Given the description of an element on the screen output the (x, y) to click on. 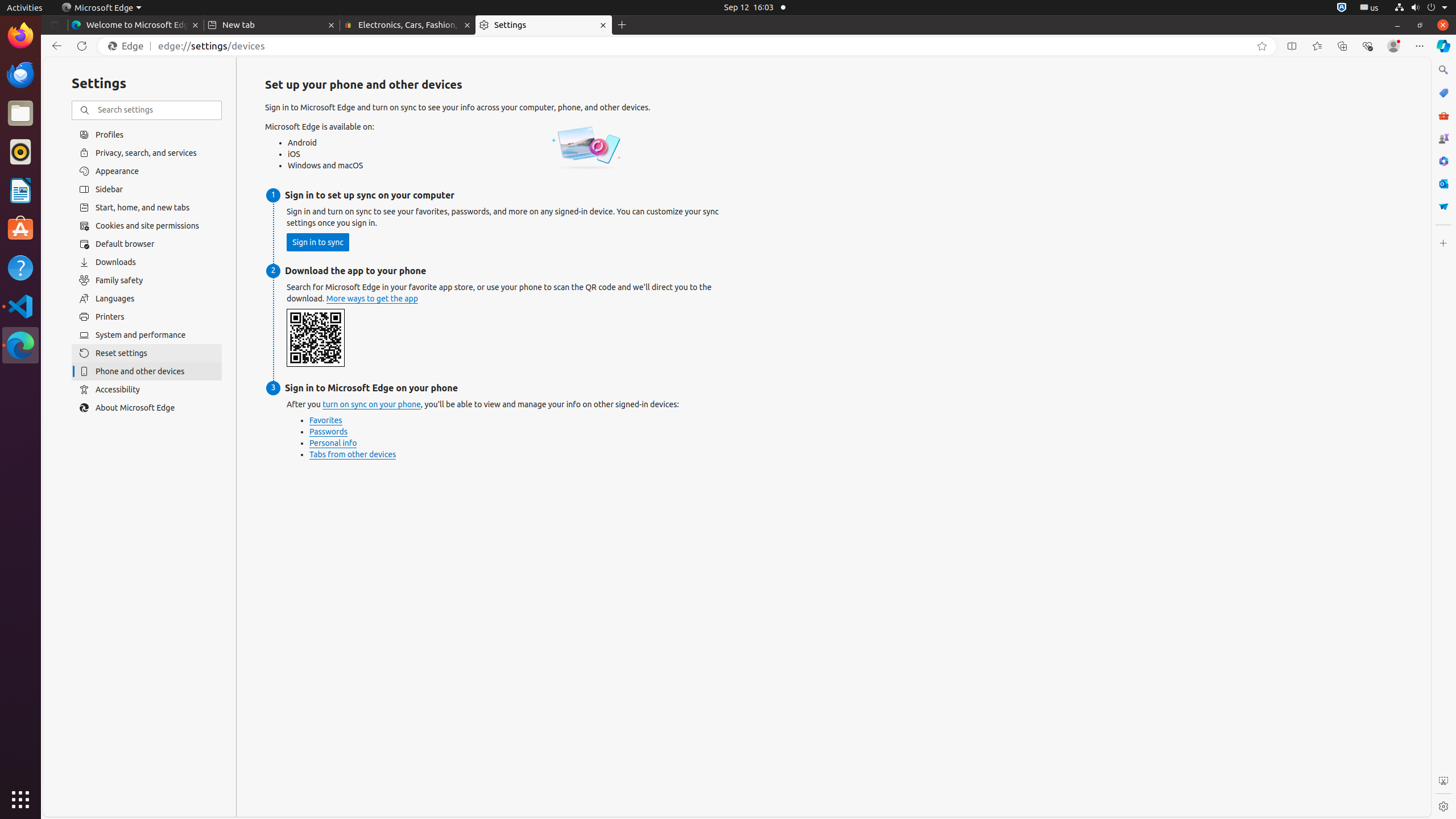
Edge Element type: push-button (128, 46)
Games Element type: push-button (1443, 137)
Search Element type: push-button (1443, 69)
Favorites Element type: push-button (1316, 45)
Ubuntu Software Element type: push-button (20, 229)
